Given the description of an element on the screen output the (x, y) to click on. 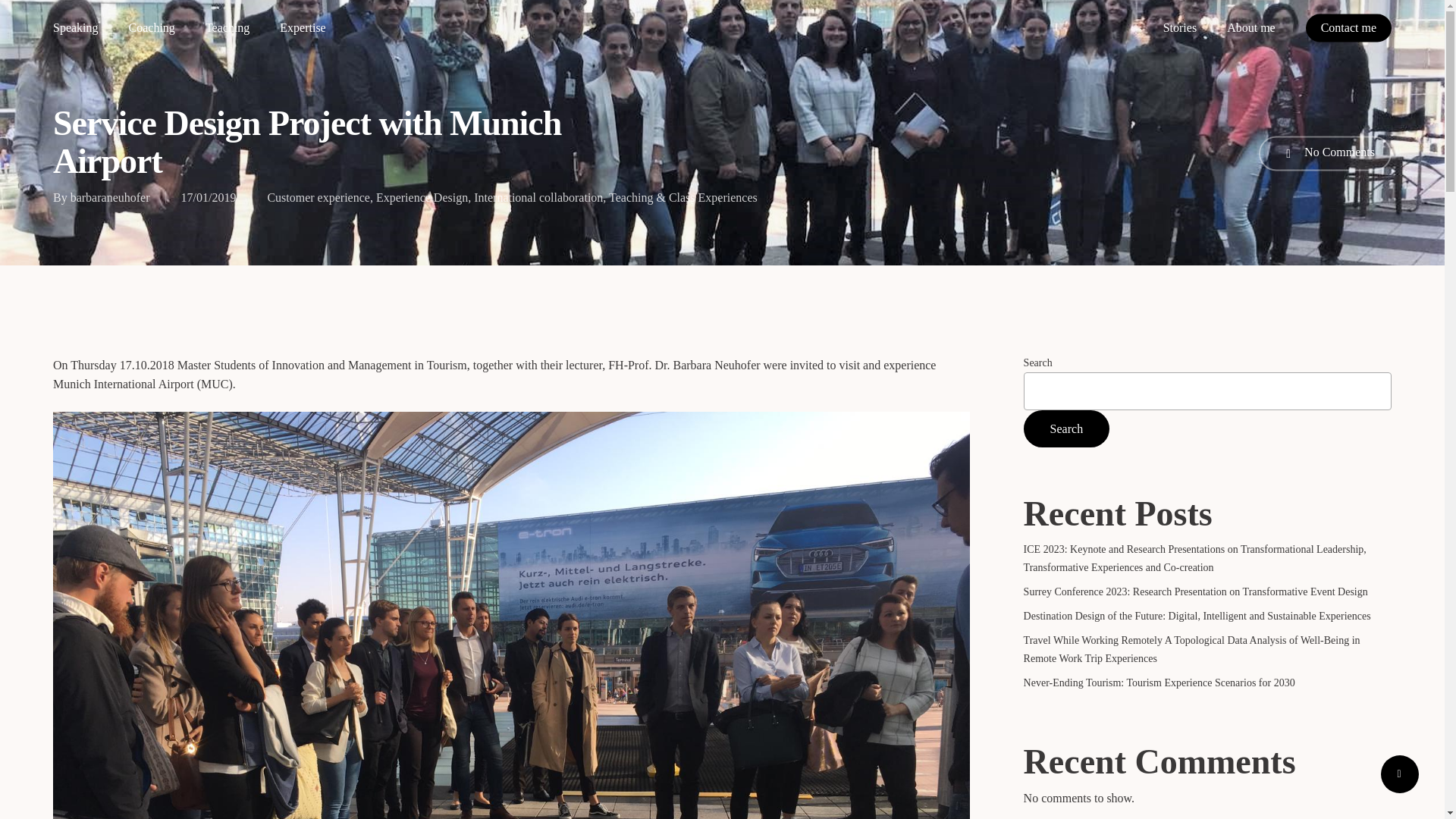
About me (1251, 28)
Never-Ending Tourism: Tourism Experience Scenarios for 2030 (1207, 683)
International collaboration (538, 196)
barbaraneuhofer (109, 196)
Search (1066, 428)
Contact me (1348, 28)
Stories (1179, 28)
